Given the description of an element on the screen output the (x, y) to click on. 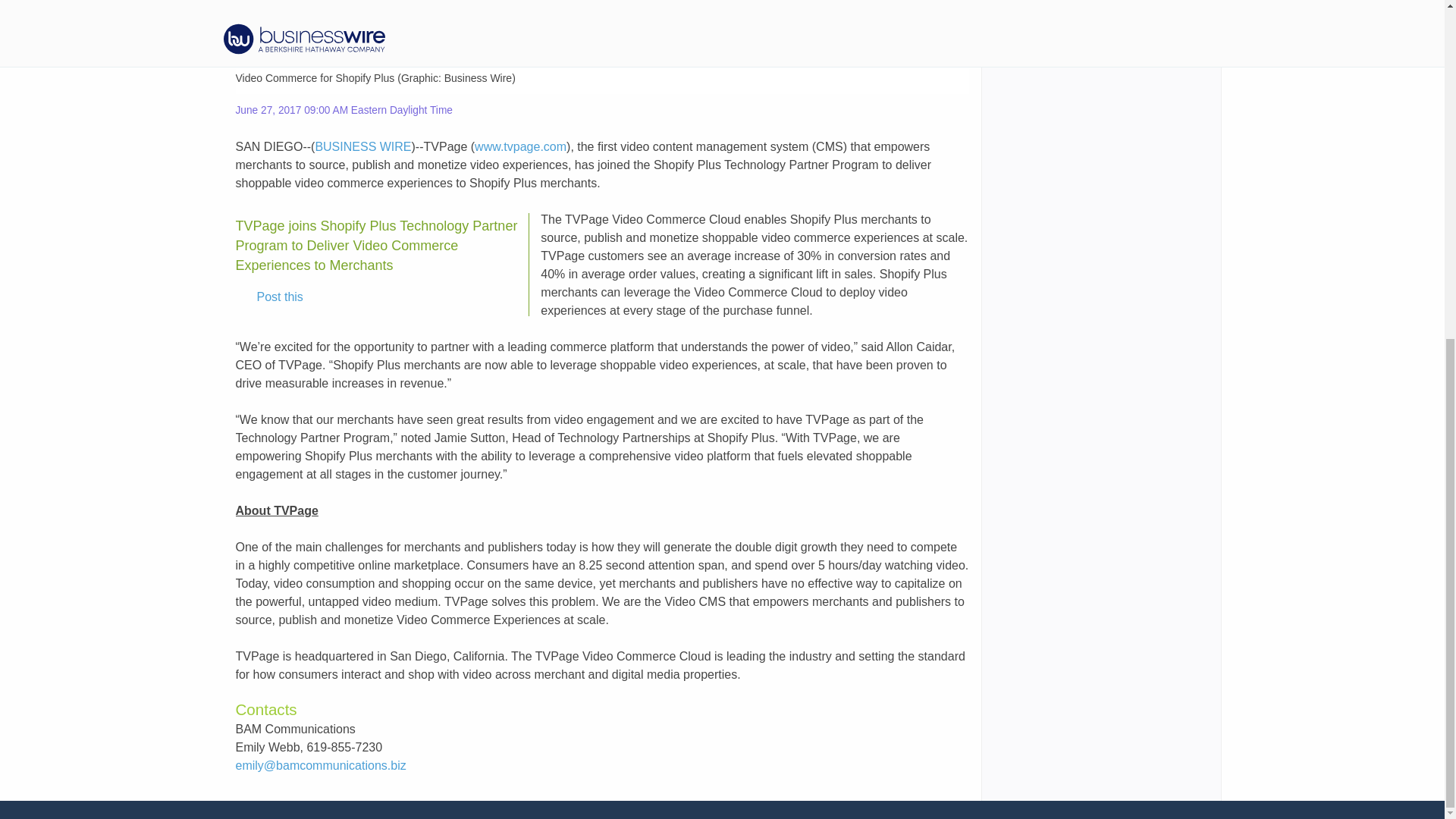
www.tvpage.com (520, 146)
BUSINESS WIRE (362, 146)
Post this (269, 296)
